Given the description of an element on the screen output the (x, y) to click on. 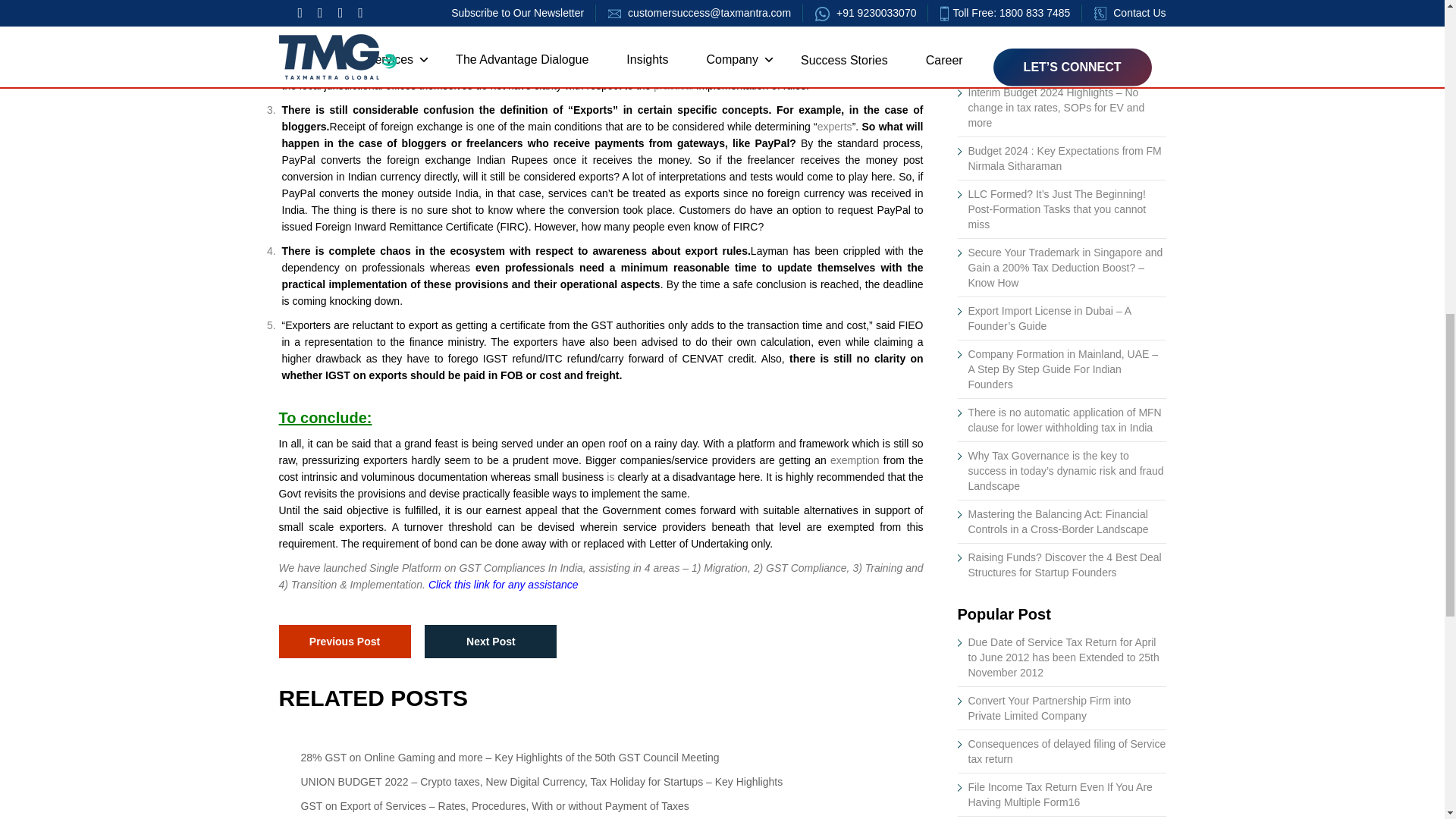
Government (355, 16)
Next Post (490, 641)
Previous Post (344, 641)
Consequences of delayed filing of Service tax return (1067, 750)
Click this link for any assistance (503, 584)
Convert Your Partnership Firm into Private Limited Company (1049, 707)
